Given the description of an element on the screen output the (x, y) to click on. 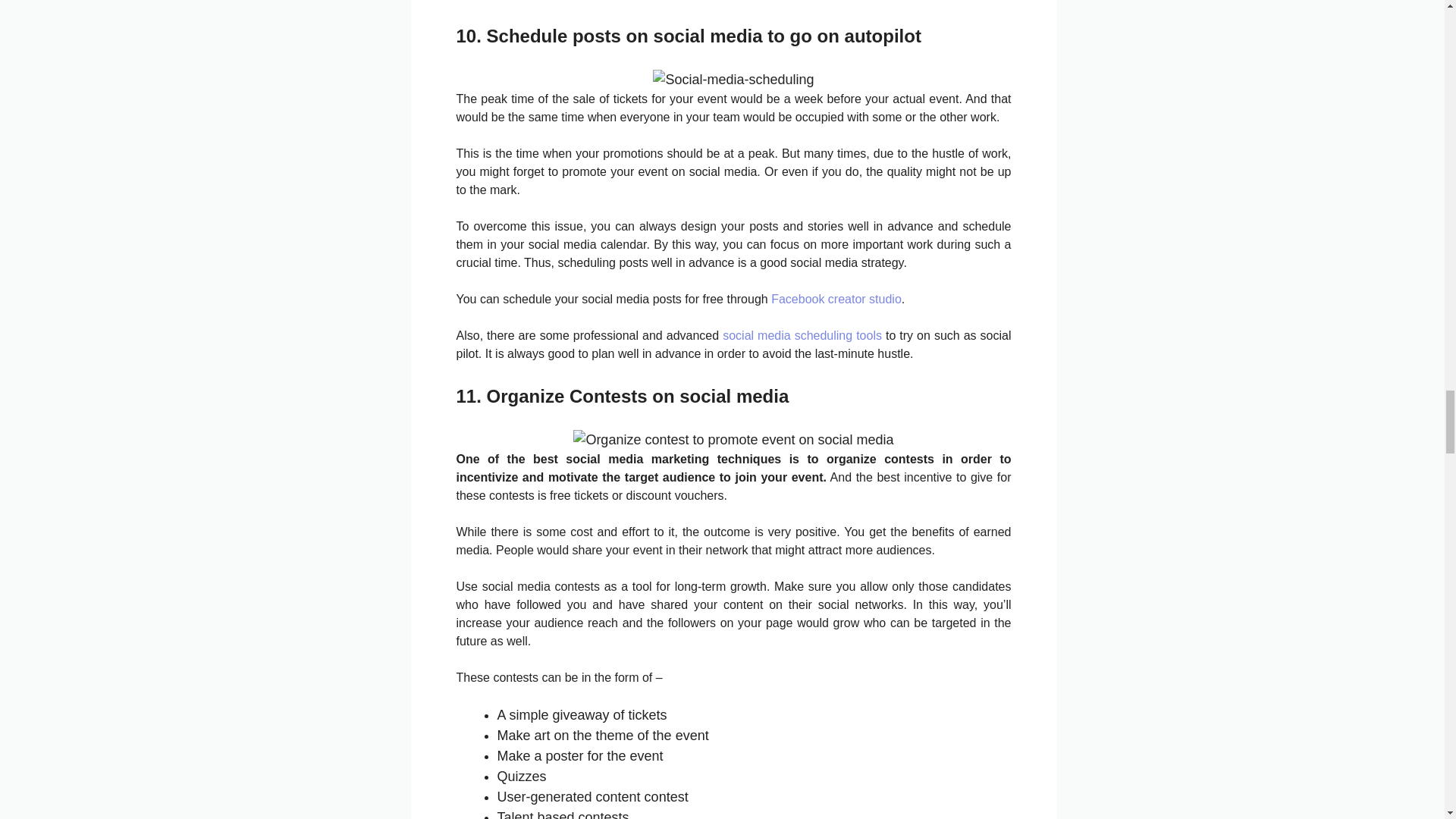
Organize contests to promote event on social media (733, 439)
social media scheduling tools (802, 335)
Facebook creator studio (836, 298)
